Given the description of an element on the screen output the (x, y) to click on. 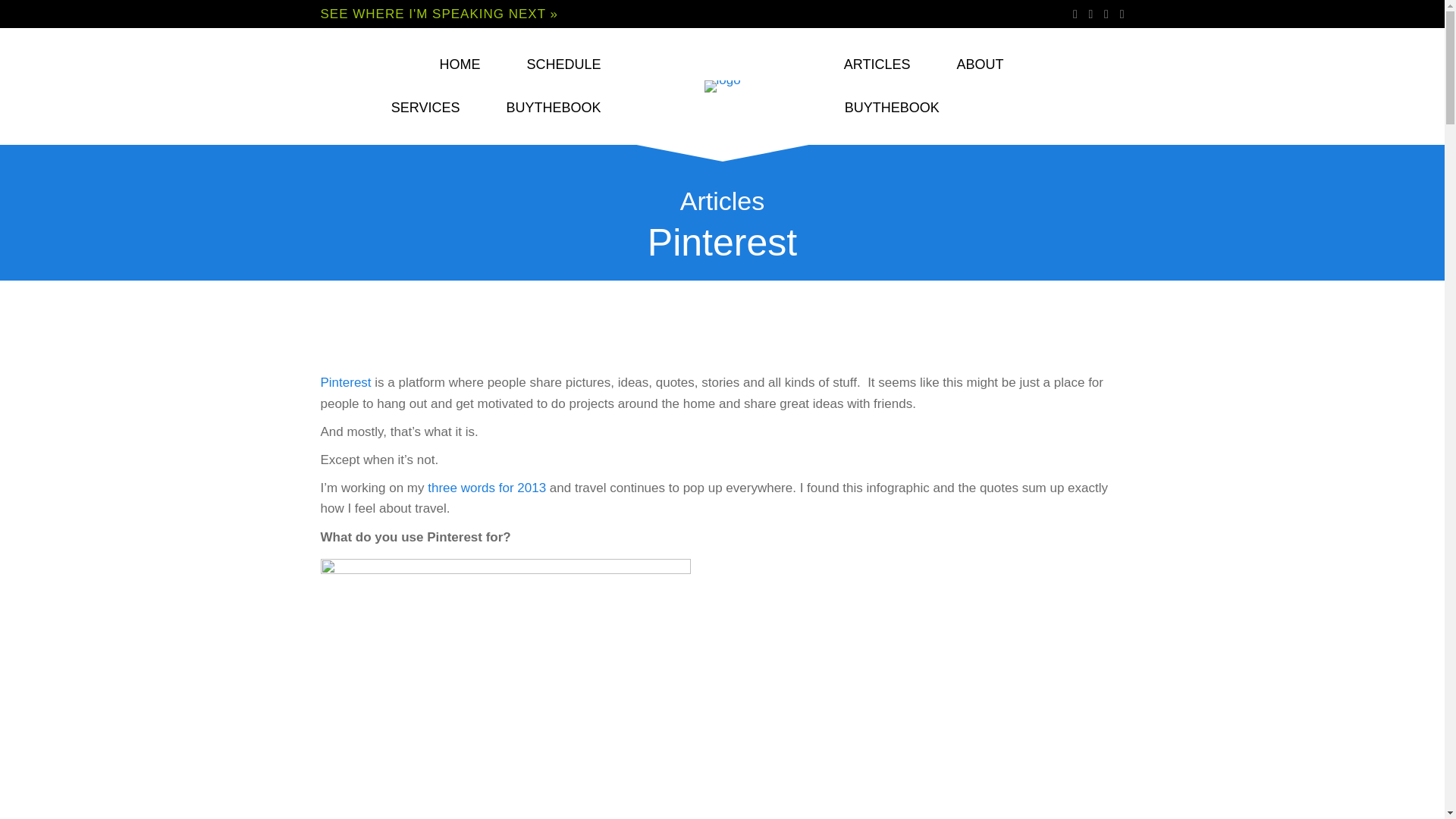
HOME (459, 64)
SCHEDULE (563, 64)
SERVICES (425, 107)
ABOUT (980, 64)
ARTICLES (877, 64)
three words for 2013 (487, 487)
site-logo (722, 86)
Pinterest (345, 382)
BUYTHEBOOK (892, 107)
BUYTHEBOOK (553, 107)
